Given the description of an element on the screen output the (x, y) to click on. 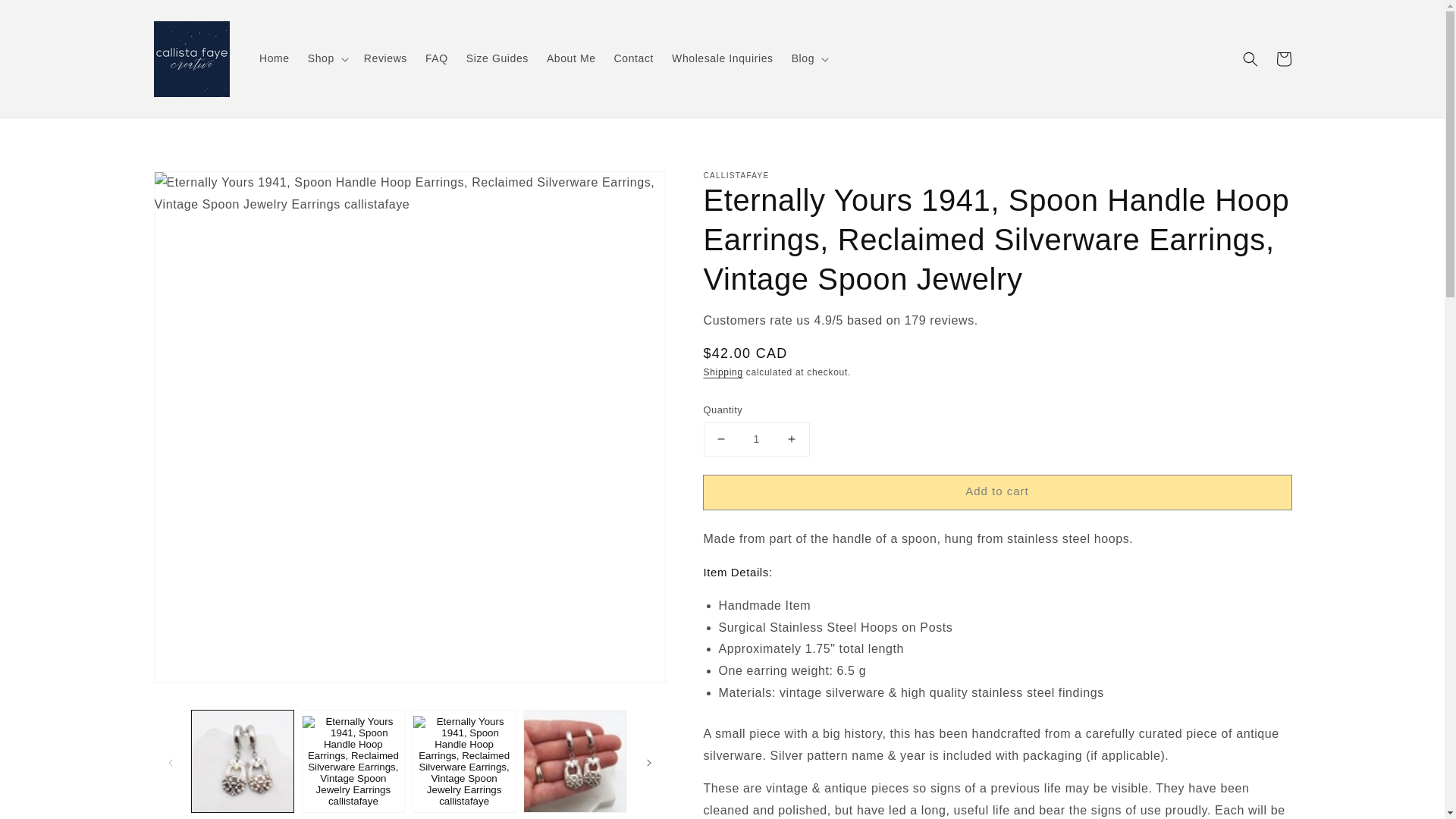
Skip to content (45, 16)
1 (756, 439)
